Given the description of an element on the screen output the (x, y) to click on. 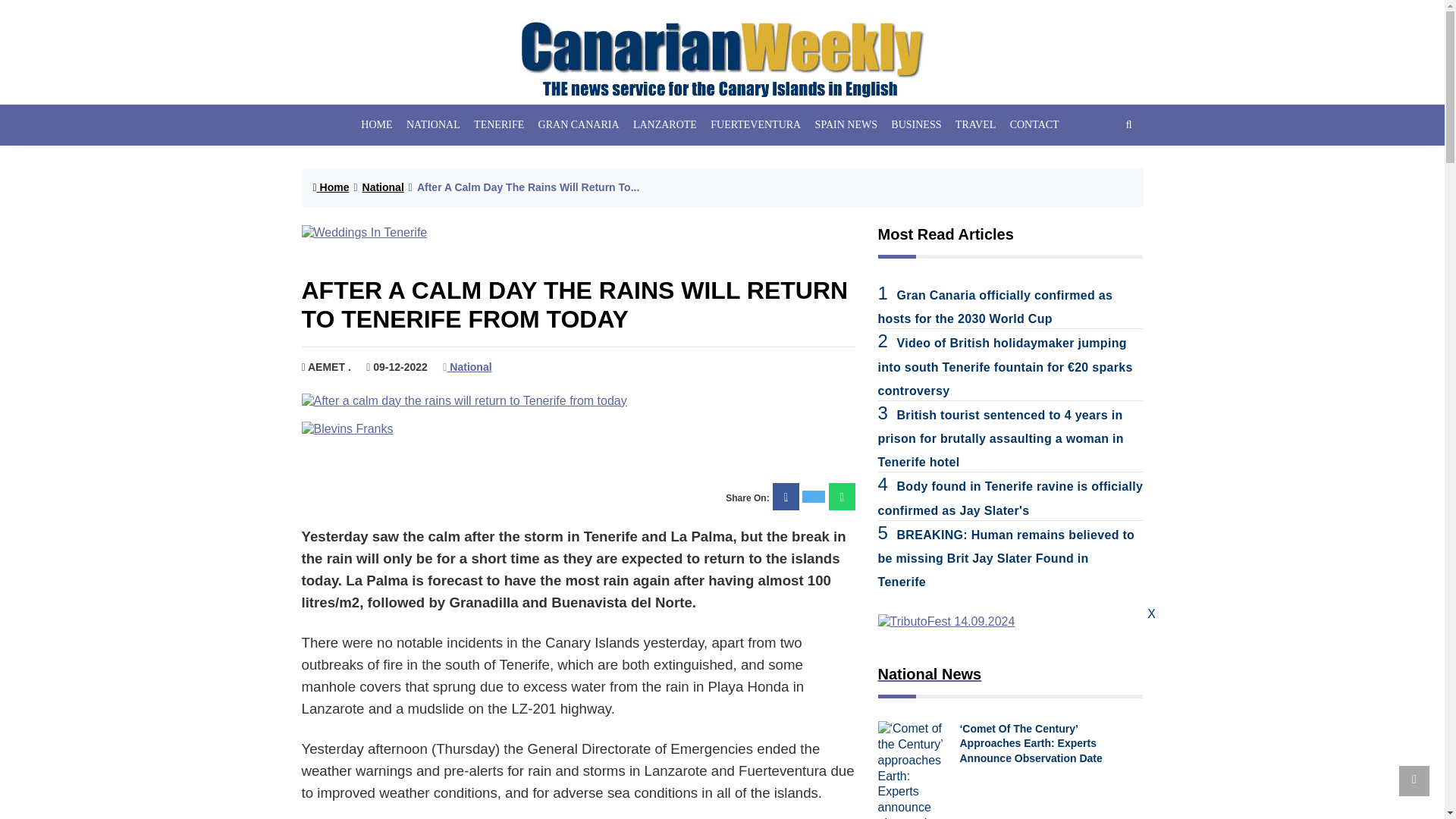
National (383, 186)
HOME (376, 124)
BUSINESS (915, 124)
SPAIN NEWS (845, 124)
LANZAROTE (664, 124)
CONTACT (1034, 124)
National (467, 367)
FUERTEVENTURA (755, 124)
TENERIFE (498, 124)
Weddings In Tenerife (578, 232)
NATIONAL (433, 124)
TRAVEL (976, 124)
Blevins Franks (578, 429)
GRAN CANARIA (578, 124)
